Given the description of an element on the screen output the (x, y) to click on. 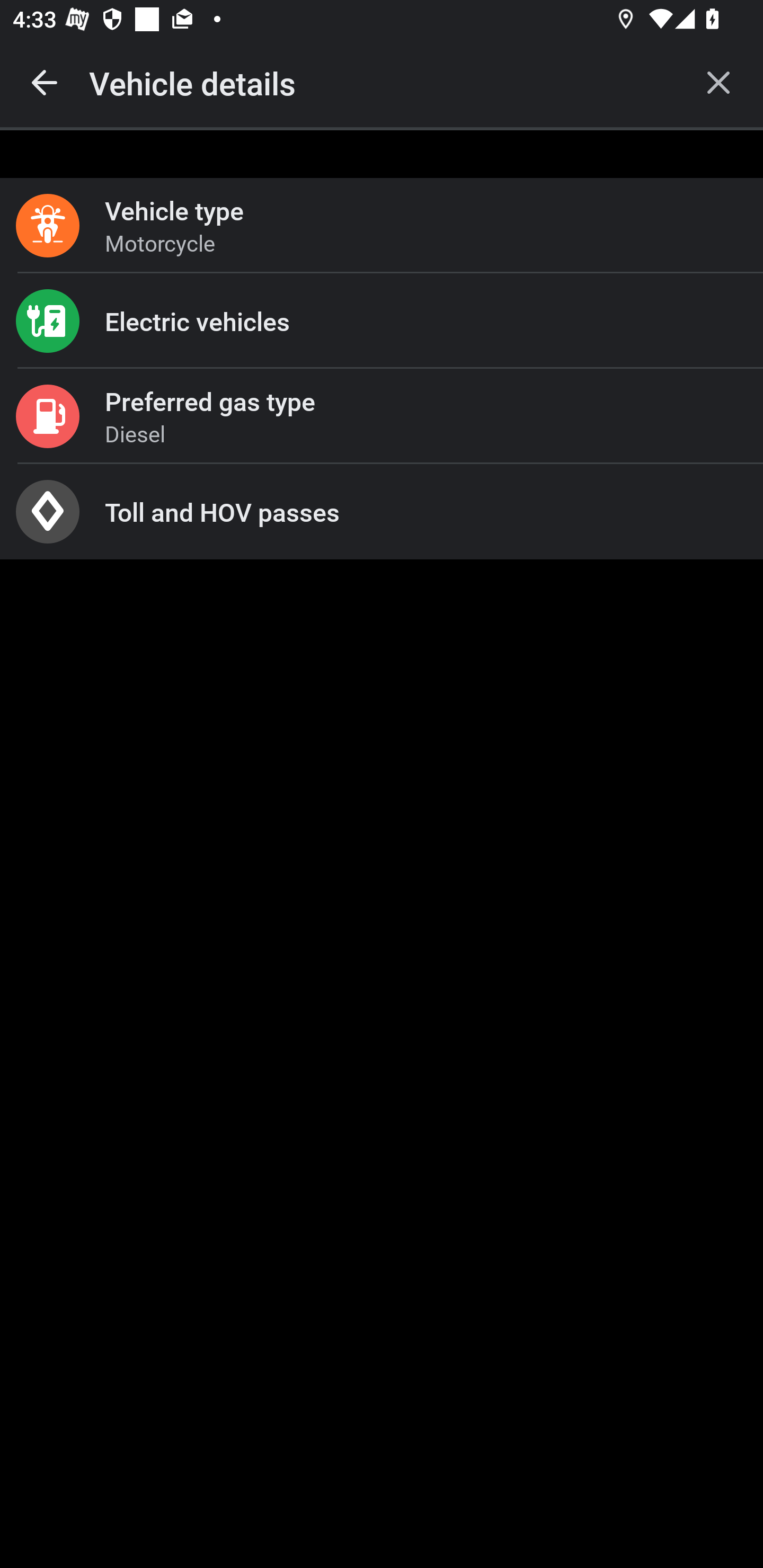
Vehicle type Motorcycle (381, 225)
Electric vehicles (381, 320)
Preferred gas type Diesel (381, 416)
Toll and HOV passes (381, 511)
